Given the description of an element on the screen output the (x, y) to click on. 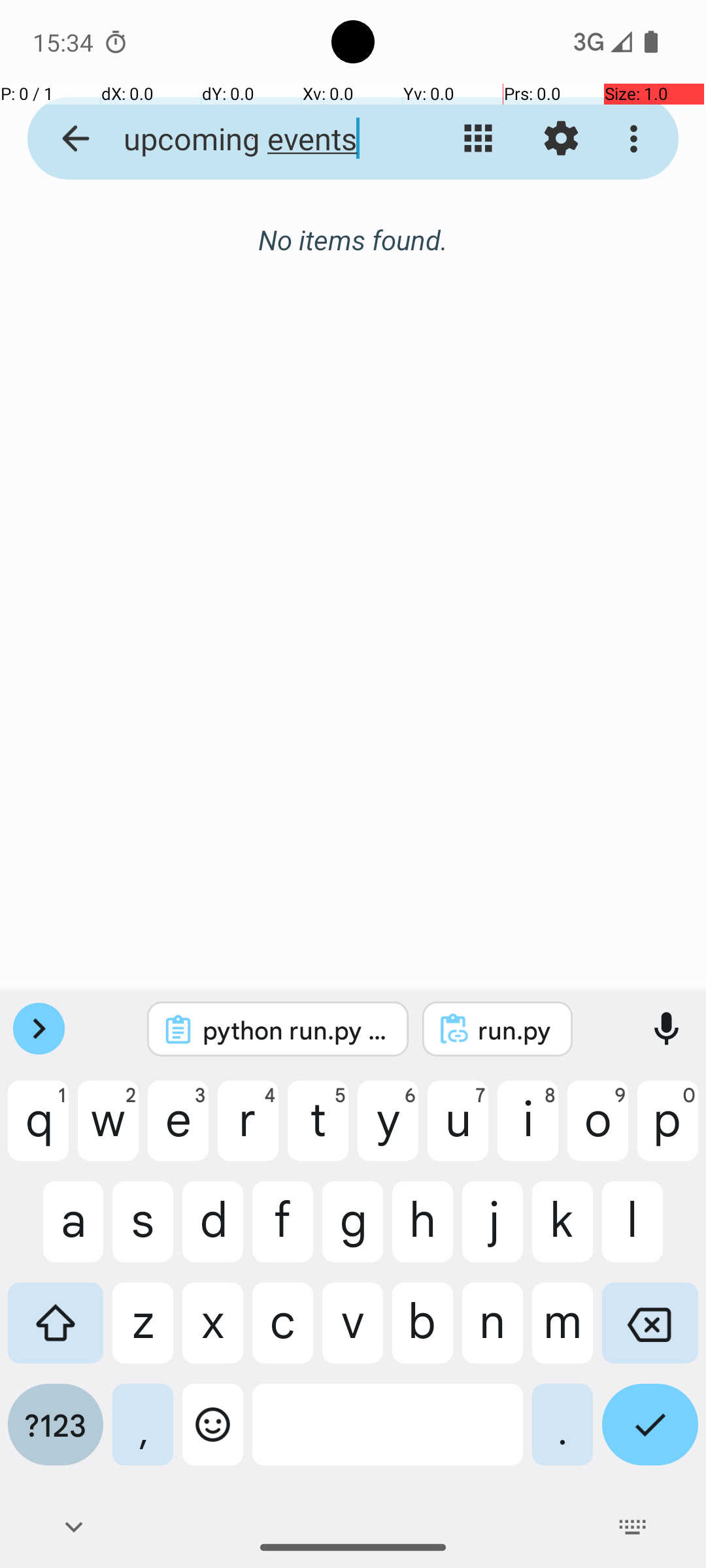
upcoming events Element type: android.widget.EditText (252, 138)
python run.py \   --suite_family=android_world \   --agent_name=t3a_gpt4 \   --perform_emulator_setup \   --tasks=ContactsAddContact,ClockStopWatchRunning \  # Optional: Just run on a subset. Element type: android.widget.TextView (294, 1029)
run.py Element type: android.widget.TextView (514, 1029)
